Given the description of an element on the screen output the (x, y) to click on. 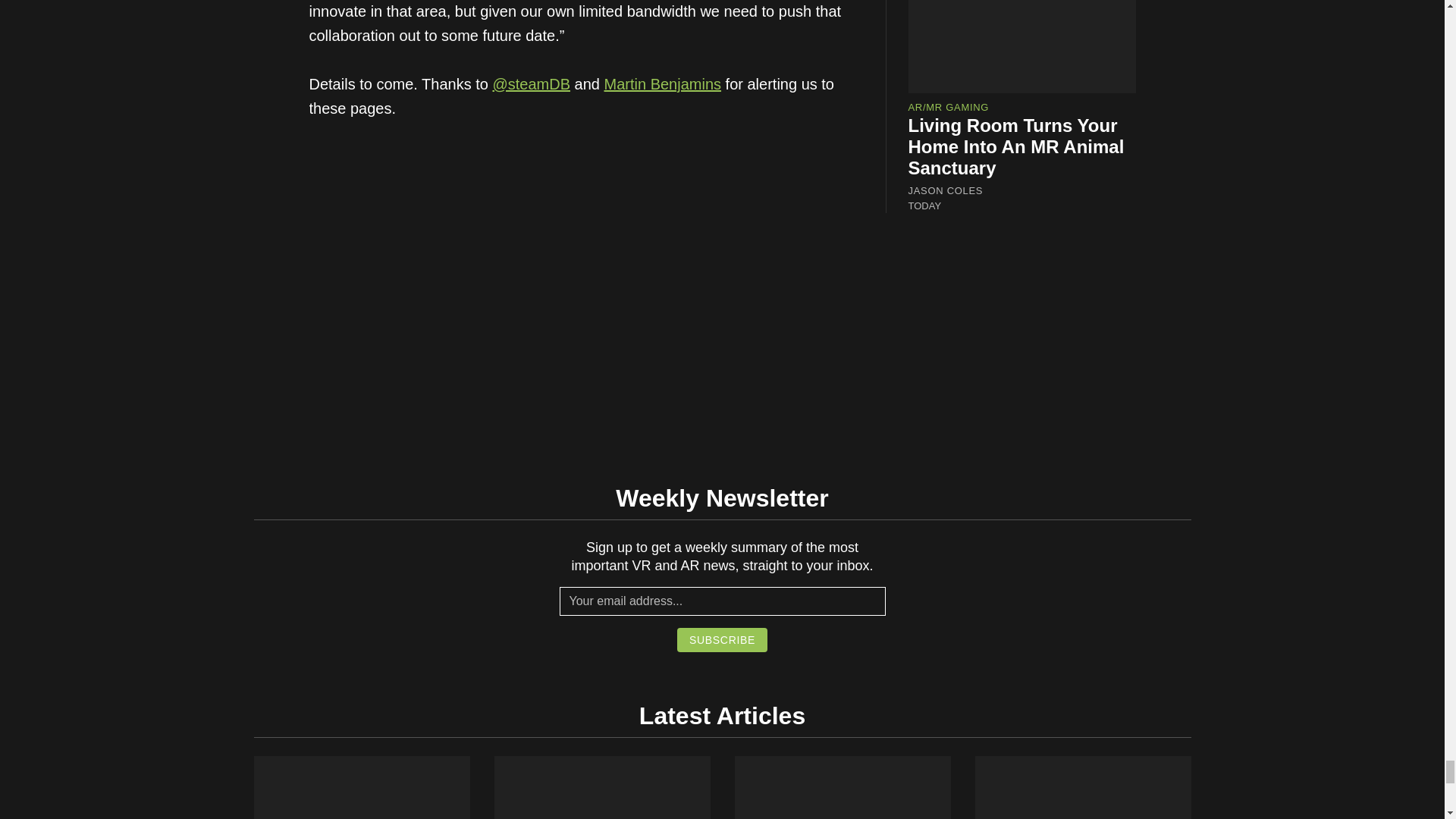
Subscribe (722, 639)
Subscribe (722, 639)
Latest Articles (722, 715)
Martin Benjamins (663, 84)
